Given the description of an element on the screen output the (x, y) to click on. 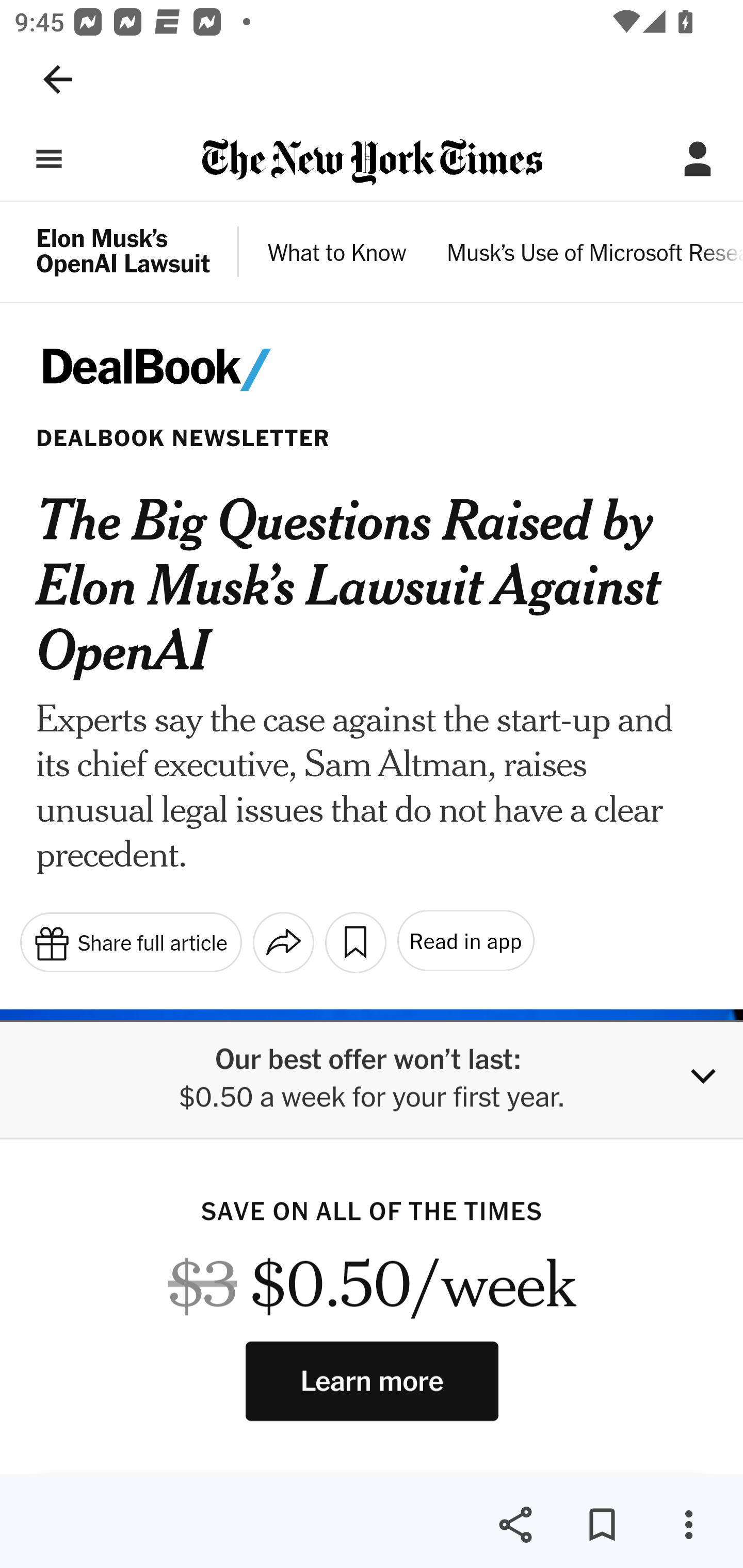
Navigate up (57, 79)
SEARCH & SECTION NAVIGATION (48, 159)
Log in (697, 159)
New York Times homepage (371, 162)
What to Know (337, 254)
Musk’s Use of Microsoft Research (594, 254)
DealBook (181, 369)
More sharing options ... (283, 942)
Save article for reading later... (355, 942)
Read in app (464, 940)
Share full article (129, 941)
Learn more (371, 1380)
Share (514, 1524)
Save for later (601, 1524)
More options (688, 1524)
